Given the description of an element on the screen output the (x, y) to click on. 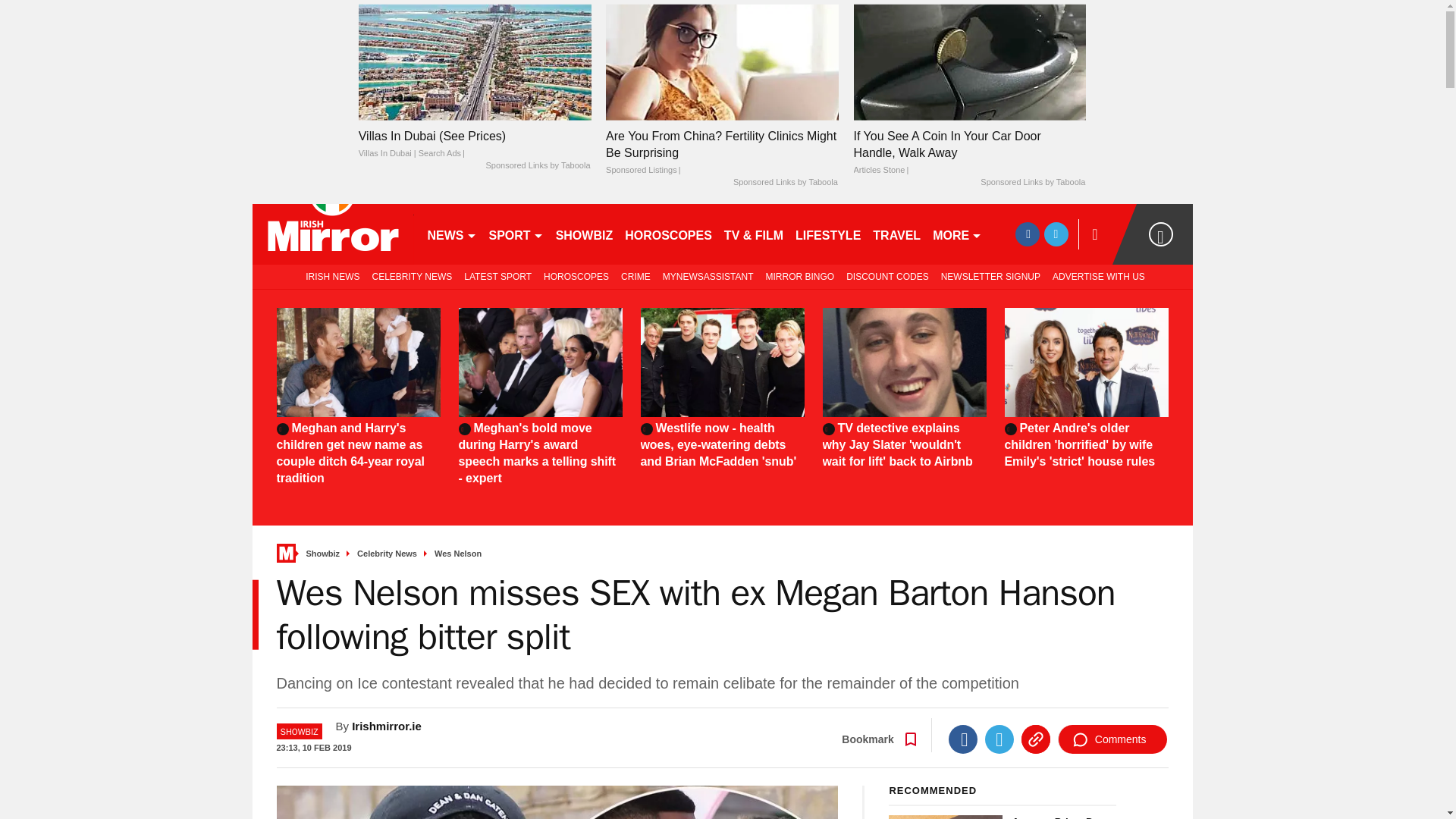
Are You From China? Fertility Clinics Might Be Surprising (721, 152)
Sponsored Links by Taboola (536, 165)
If You See A Coin In Your Car Door Handle, Walk Away (969, 62)
Twitter (999, 738)
LIFESTYLE (827, 233)
Are You From China? Fertility Clinics Might Be Surprising (721, 62)
Sponsored Links by Taboola (1031, 182)
SPORT (514, 233)
facebook (1026, 233)
SHOWBIZ (585, 233)
irishmirror (332, 233)
Comments (1112, 738)
twitter (1055, 233)
Sponsored Links by Taboola (785, 182)
Facebook (962, 738)
